Given the description of an element on the screen output the (x, y) to click on. 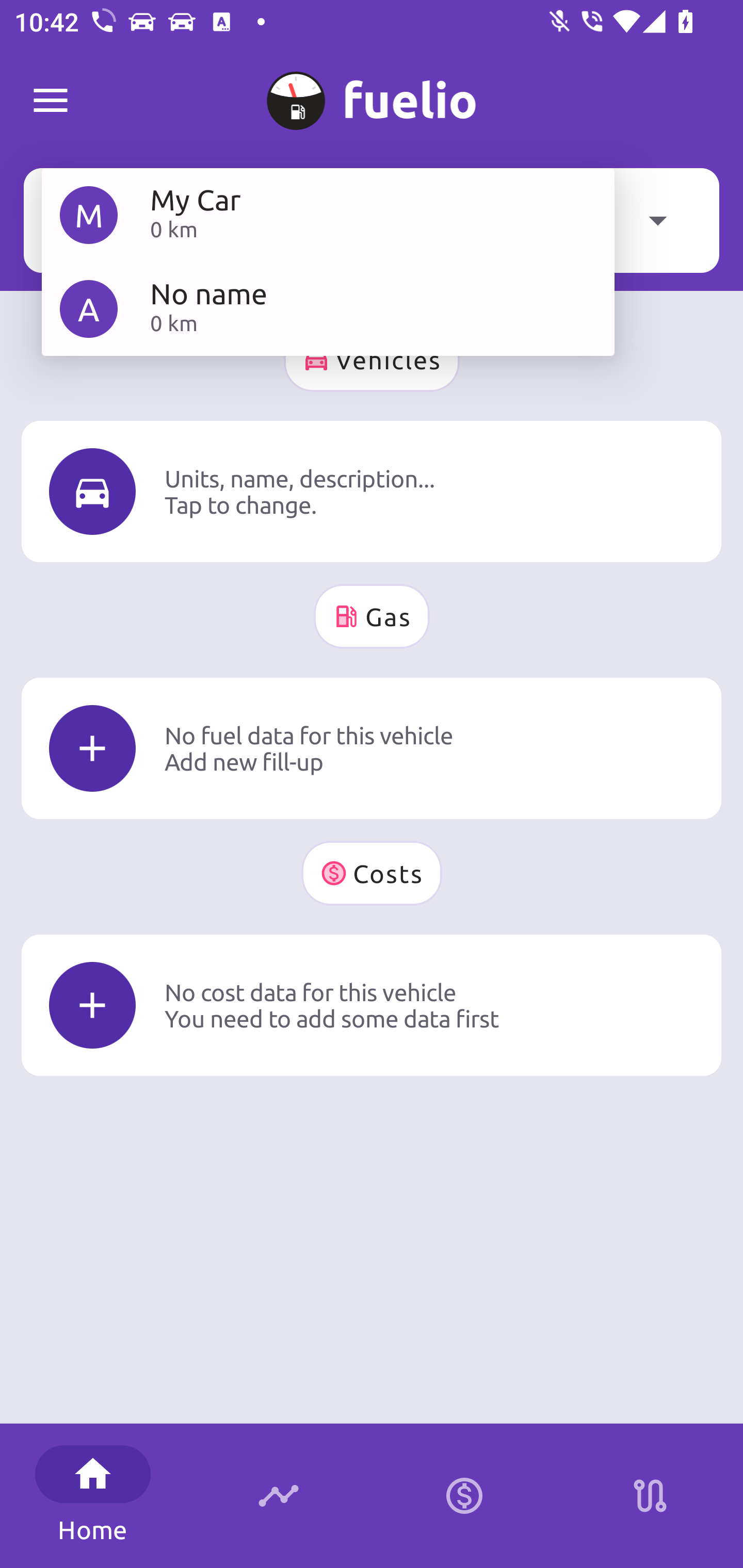
M My Car 0 km (327, 214)
A No name 0 km (327, 308)
